Given the description of an element on the screen output the (x, y) to click on. 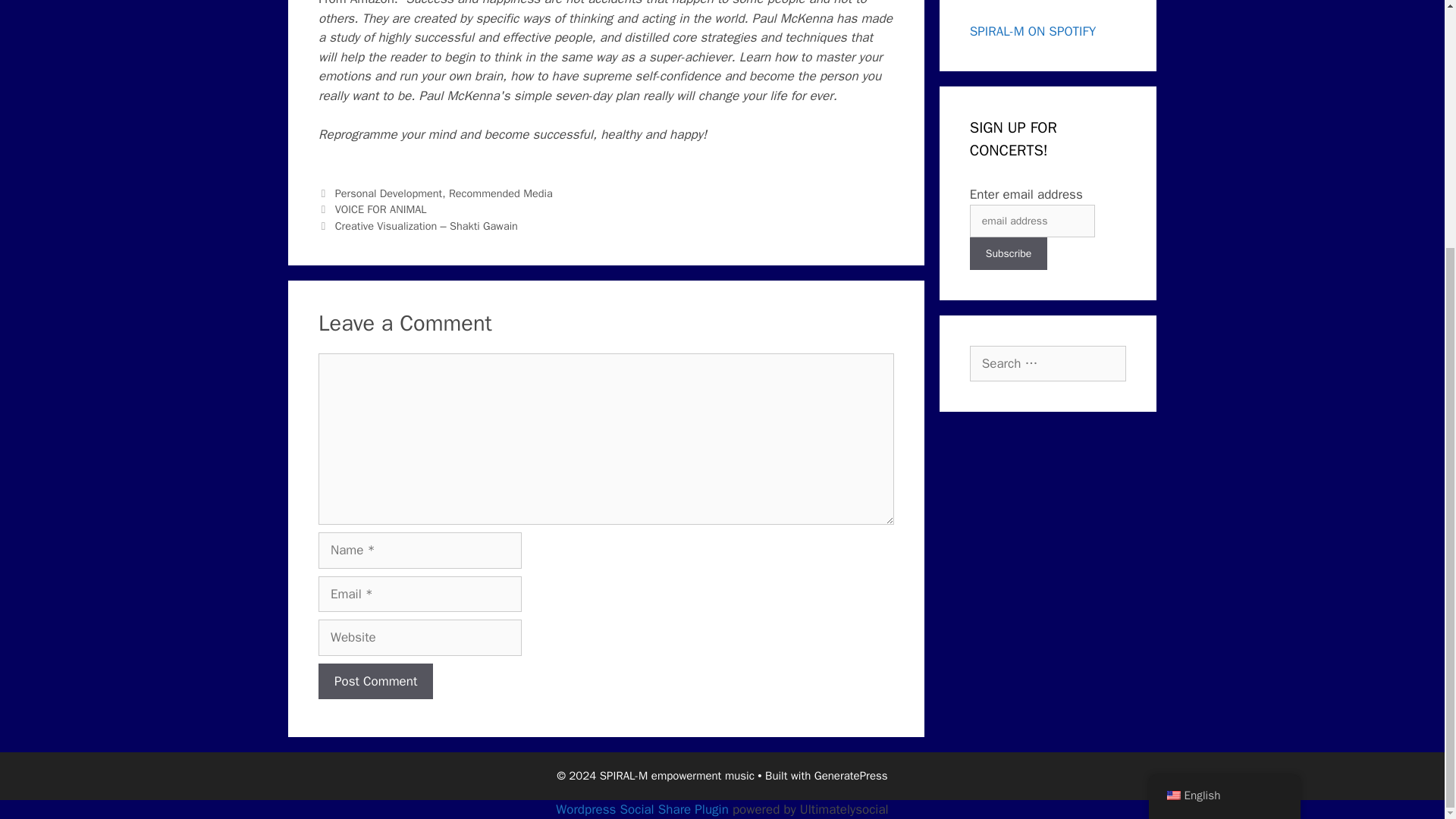
Recommended Media (500, 192)
Personal Development (388, 192)
Previous (372, 209)
Next (418, 225)
English (1172, 449)
VOICE FOR ANIMAL (380, 209)
Search for: (1047, 363)
Subscribe (1008, 252)
Post Comment (375, 681)
Post Comment (375, 681)
